Given the description of an element on the screen output the (x, y) to click on. 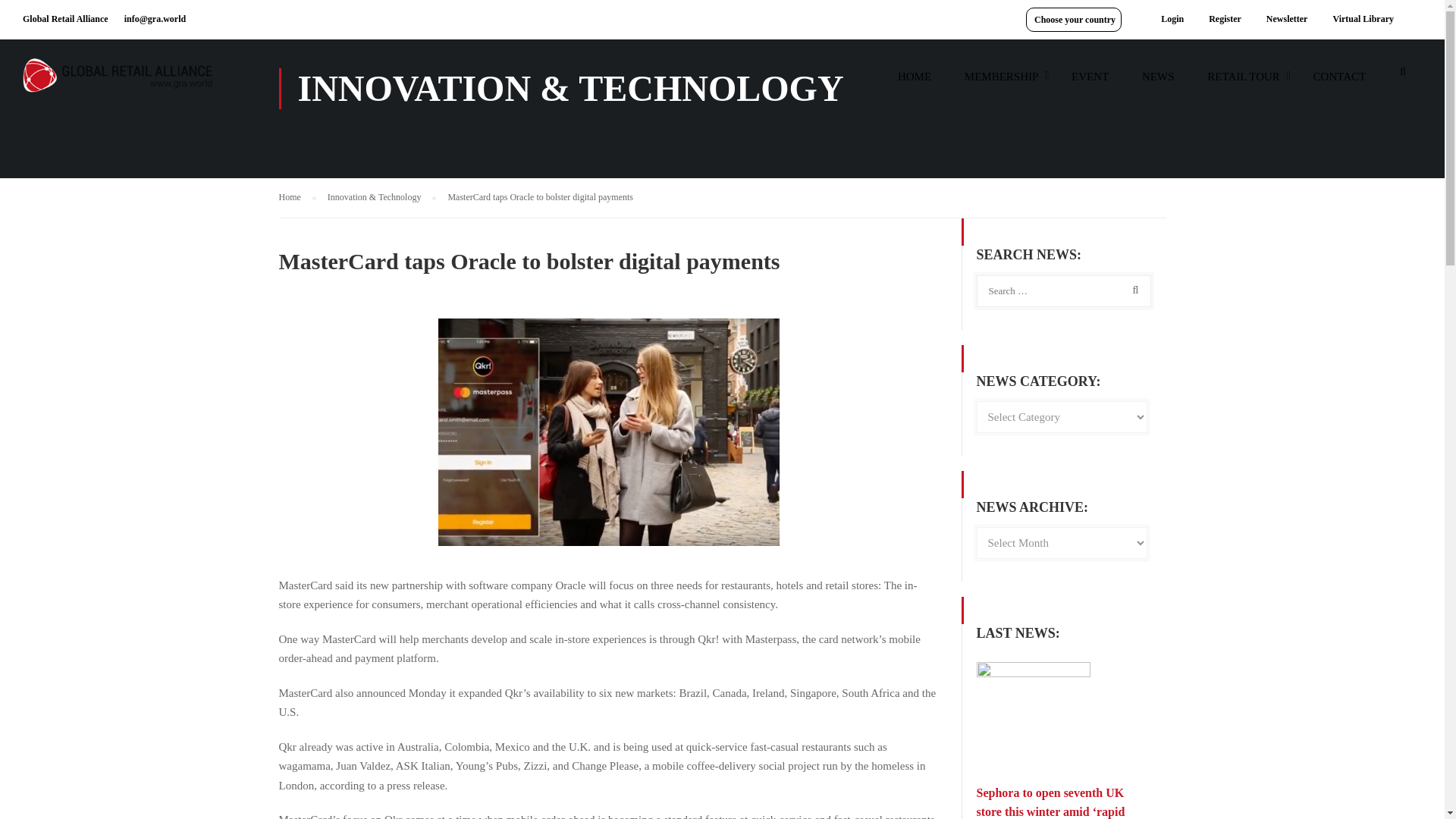
Home (297, 197)
EVENT (1090, 83)
GRA - Global Retail Alliance (117, 82)
Newsletter (1287, 18)
Search (1403, 76)
Search (1132, 290)
Search (1403, 76)
HOME (914, 83)
Search (1403, 76)
Search (1132, 290)
